Given the description of an element on the screen output the (x, y) to click on. 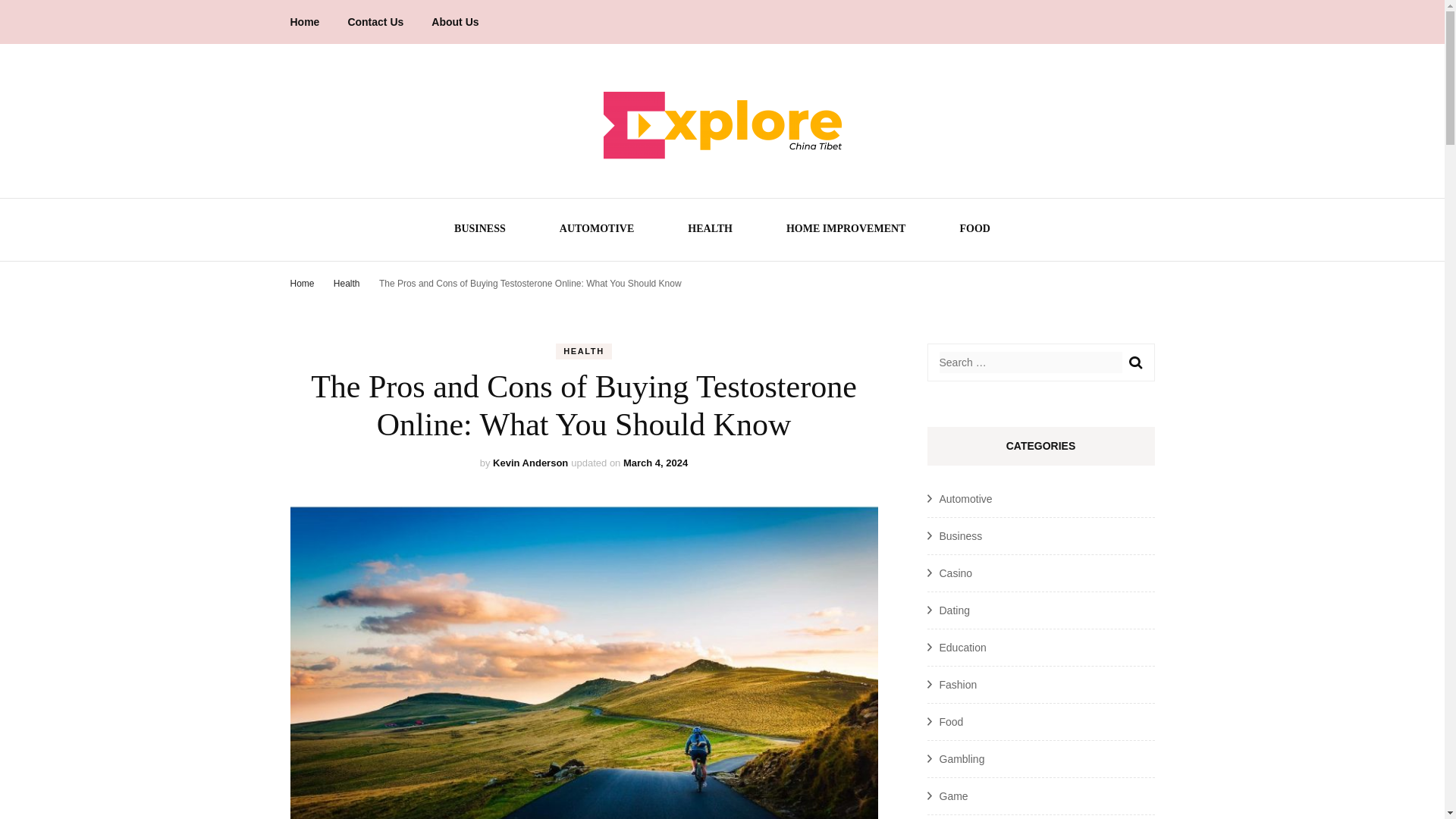
About Us (454, 21)
HEALTH (583, 351)
AUTOMOTIVE (596, 230)
Search (1134, 362)
HEALTH (709, 230)
Contact Us (375, 21)
HOME IMPROVEMENT (845, 230)
Home (303, 21)
BUSINESS (479, 230)
Home (301, 283)
